Given the description of an element on the screen output the (x, y) to click on. 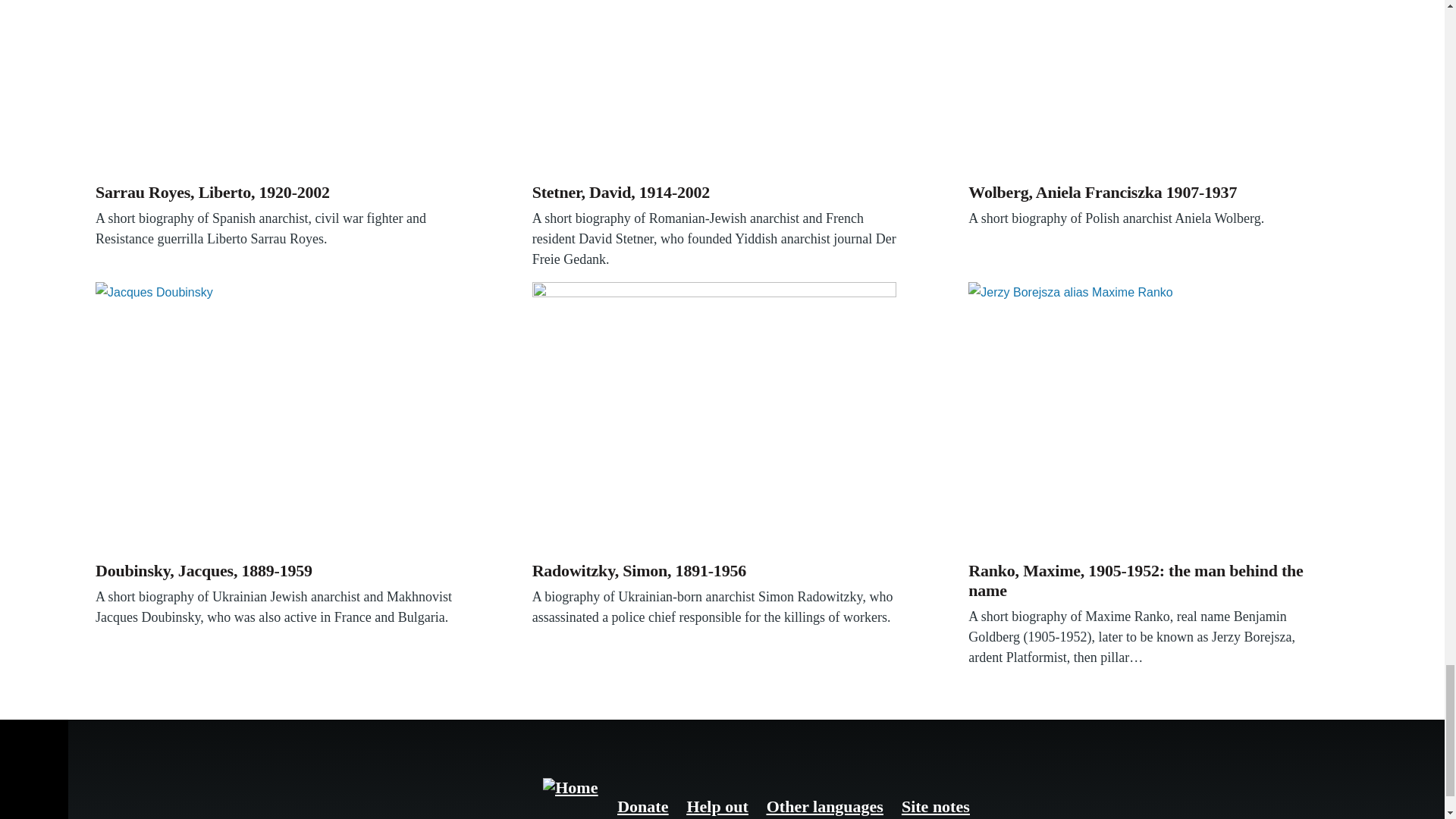
Simon Radowitzky, between police officers in 1930 (714, 418)
libcom content in languages other than English (825, 805)
Aniela Wolberg (1150, 88)
Jacques Doubinsky (278, 418)
David Stetner in 1957 (714, 88)
Jerzy Borejsza alias Maxime Ranko (1150, 418)
